Given the description of an element on the screen output the (x, y) to click on. 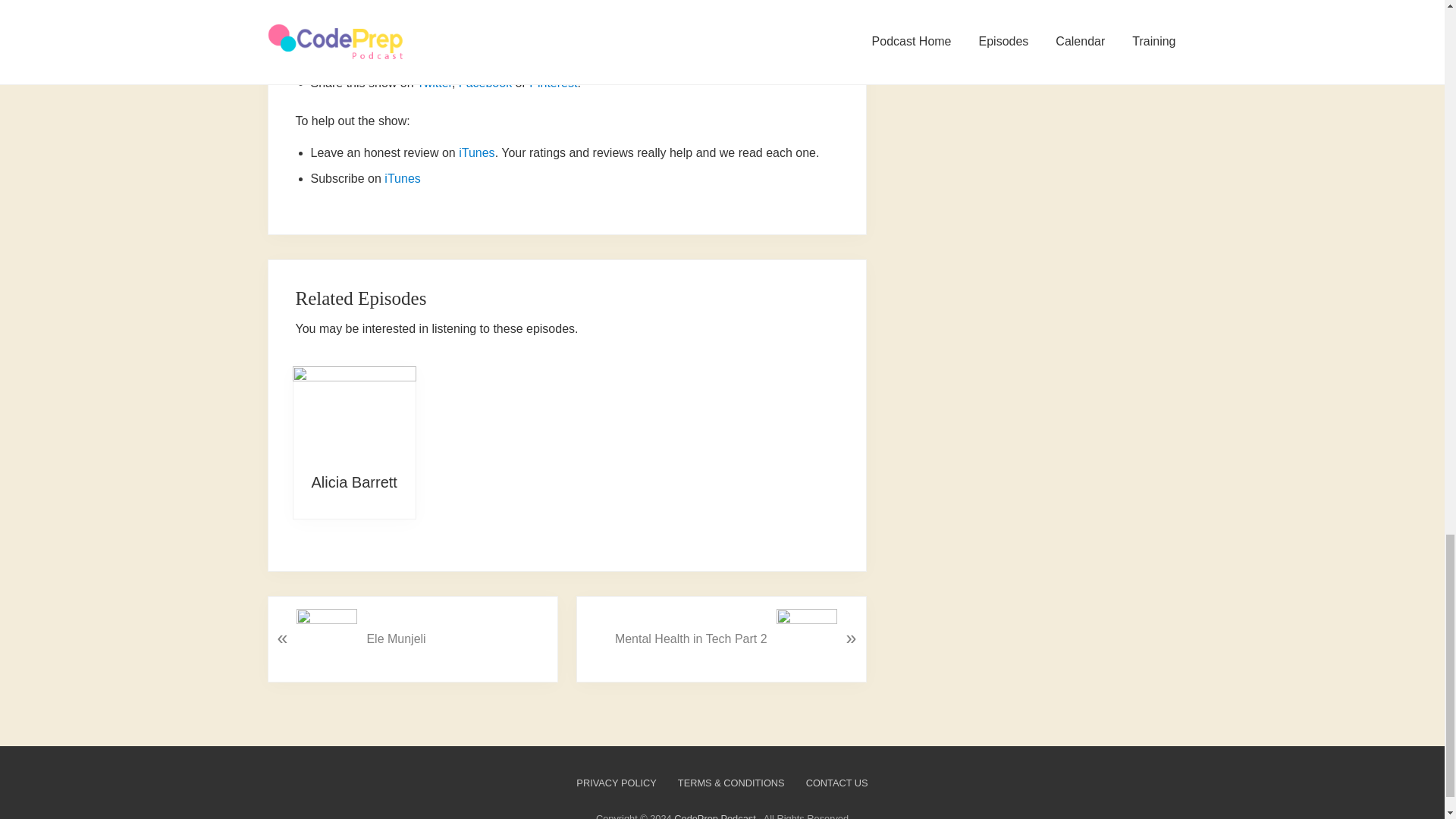
Alicia Barrett (354, 412)
CodePrep Podcast (714, 816)
Alicia Barrett (353, 482)
Facebook (485, 82)
iTunes (402, 178)
Pinterest (552, 82)
iTunes (476, 152)
Twitter (433, 82)
Alicia Barrett (353, 482)
